Given the description of an element on the screen output the (x, y) to click on. 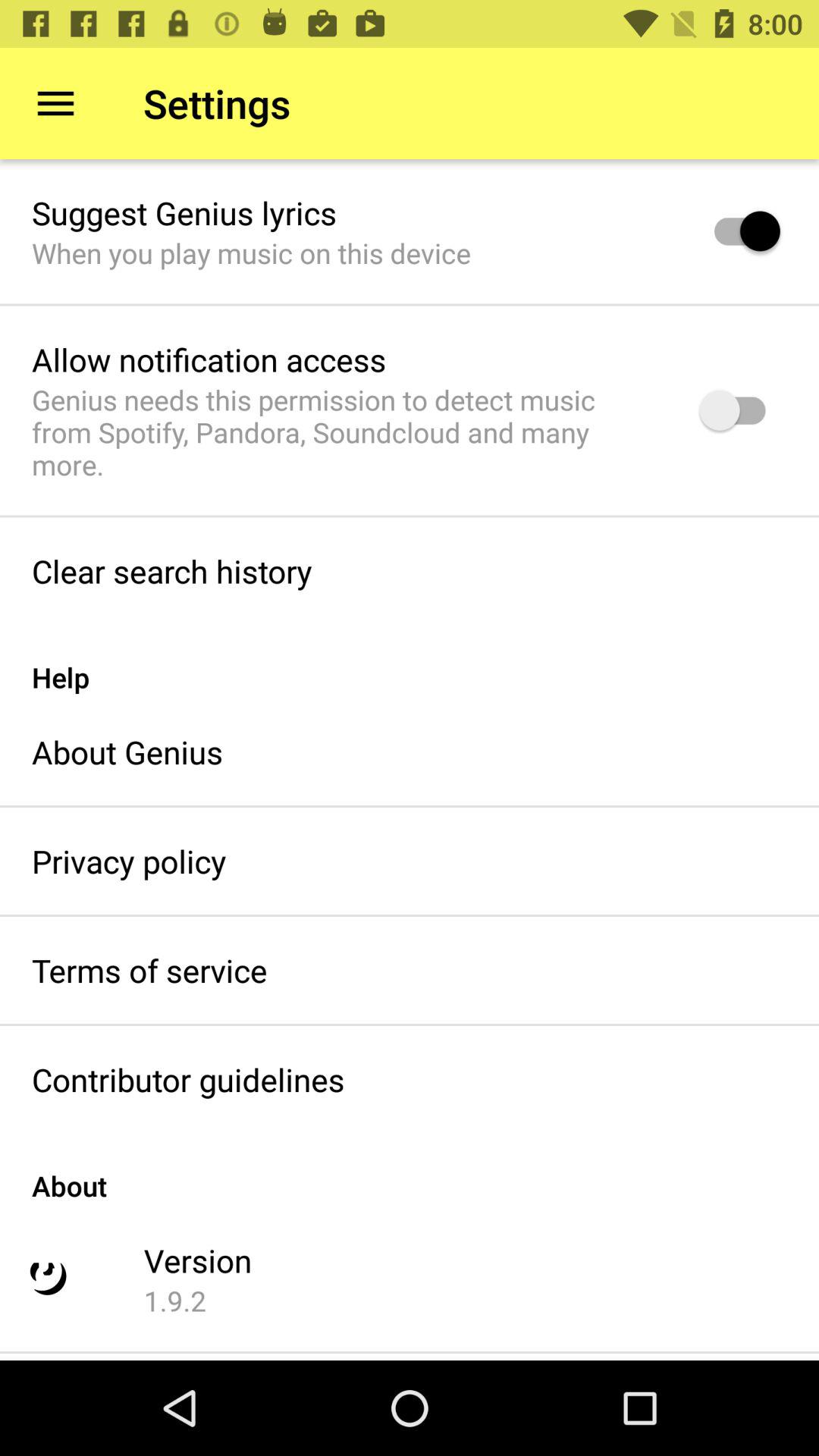
press icon above 1.9.2 item (197, 1259)
